Given the description of an element on the screen output the (x, y) to click on. 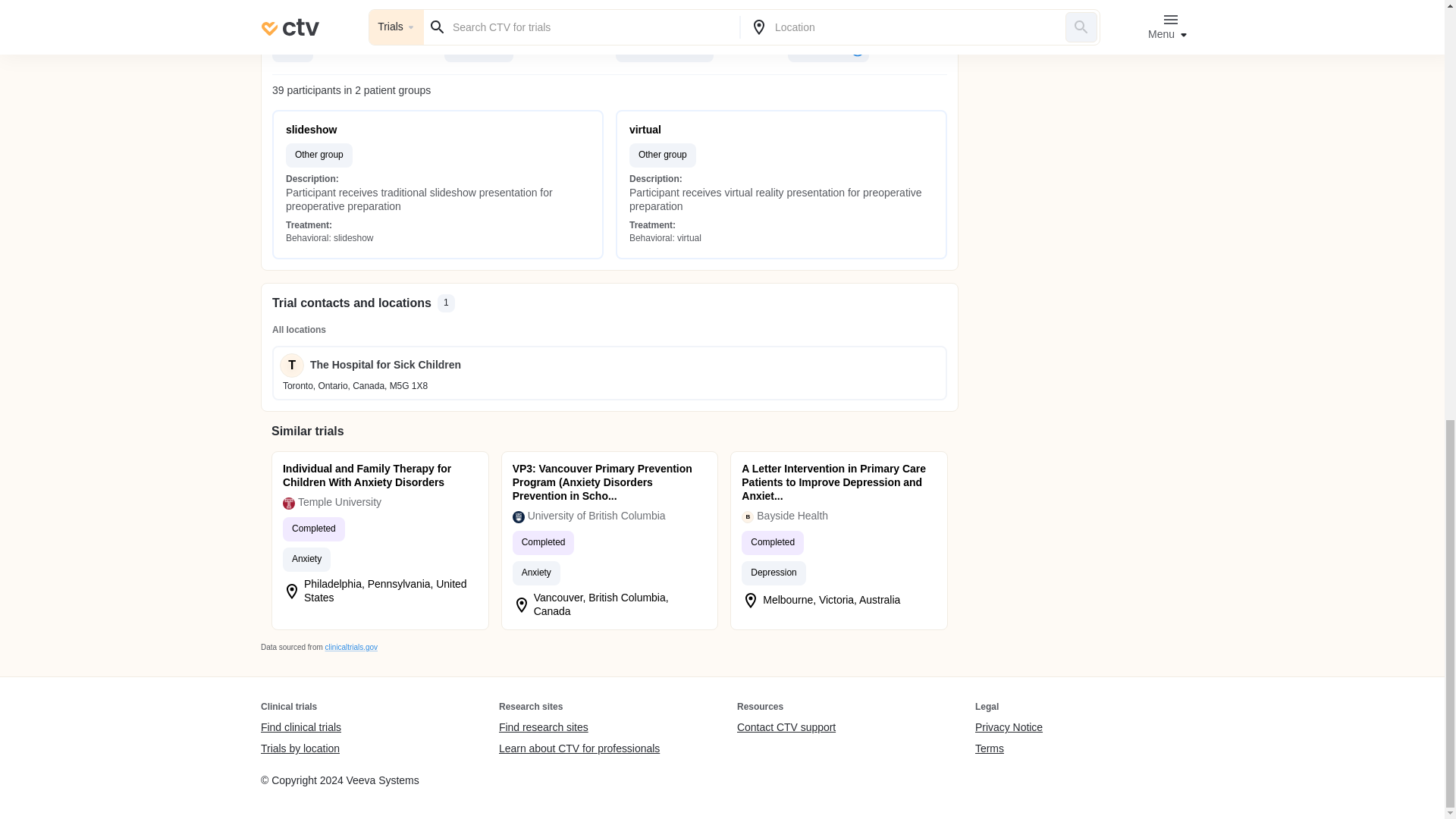
Trials by location (300, 748)
clinicaltrials.gov (350, 646)
Privacy Notice (1008, 727)
Learn about CTV for professionals (579, 748)
Contact CTV support (785, 727)
Find research sites (579, 727)
Find clinical trials (300, 727)
Terms (1008, 748)
